Given the description of an element on the screen output the (x, y) to click on. 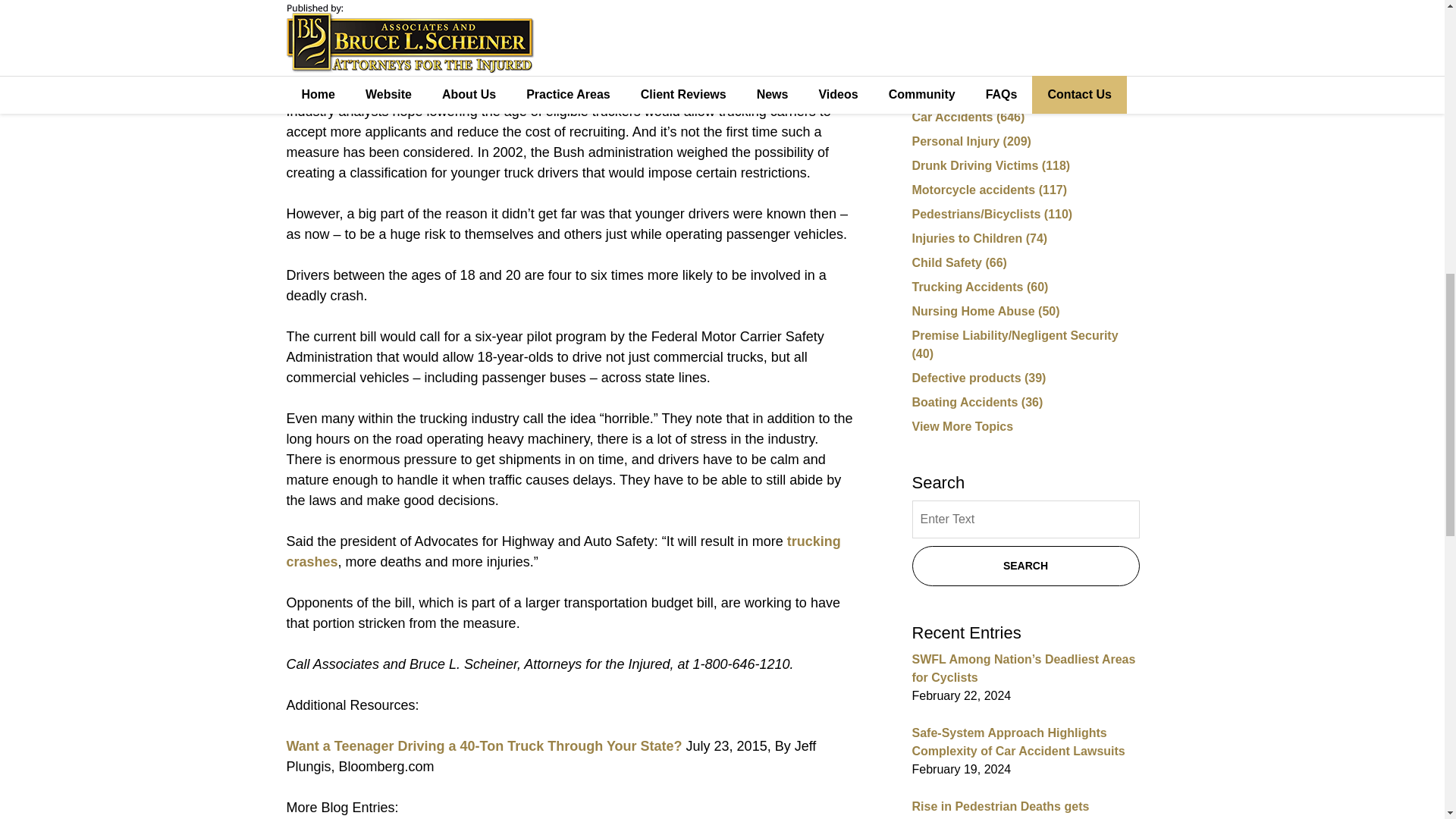
Want a Teenager Driving a 40-Ton Truck Through Your State? (484, 745)
JOIN (1024, 23)
trucking crashes (563, 551)
